Given the description of an element on the screen output the (x, y) to click on. 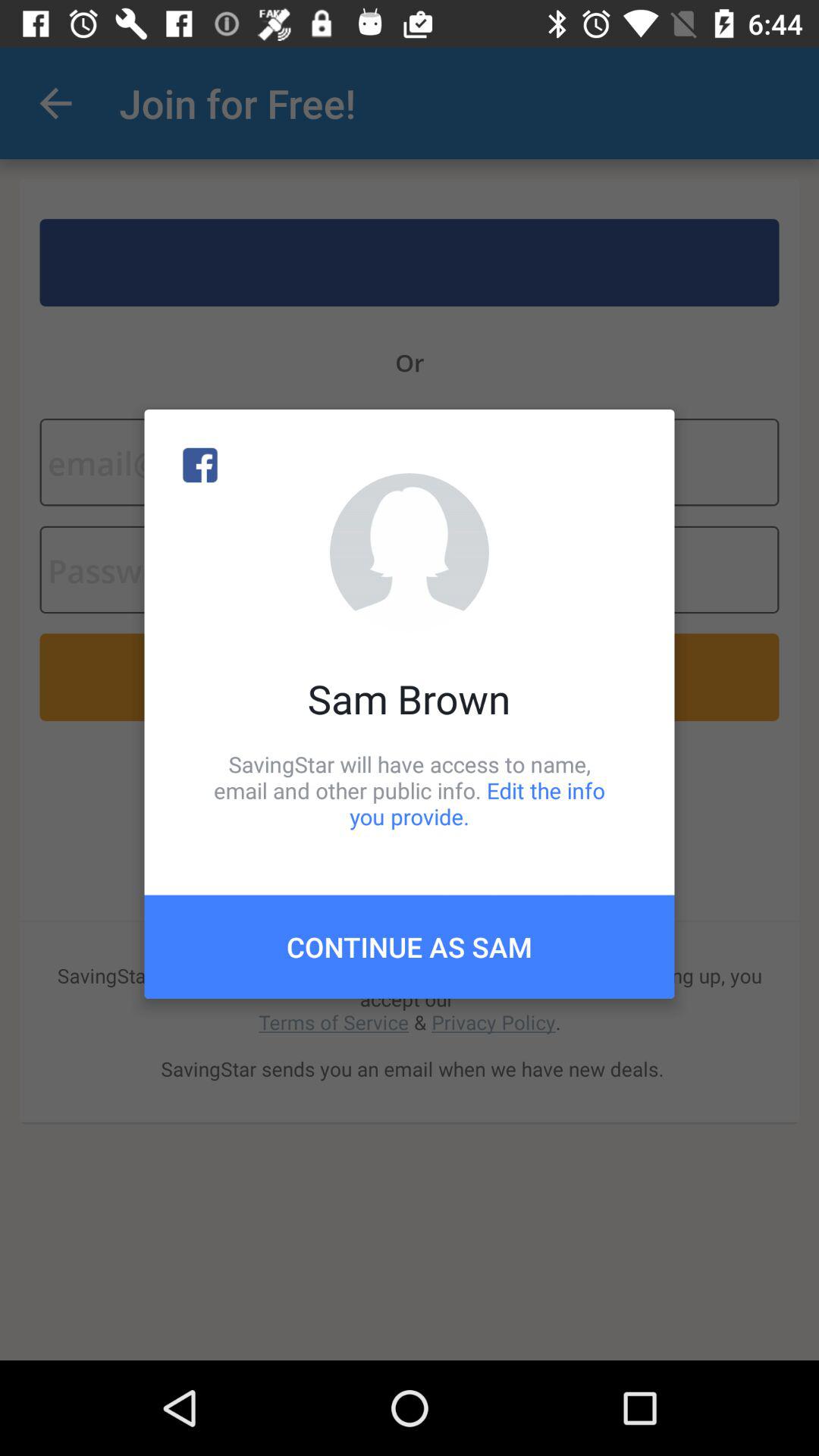
open savingstar will have (409, 790)
